Given the description of an element on the screen output the (x, y) to click on. 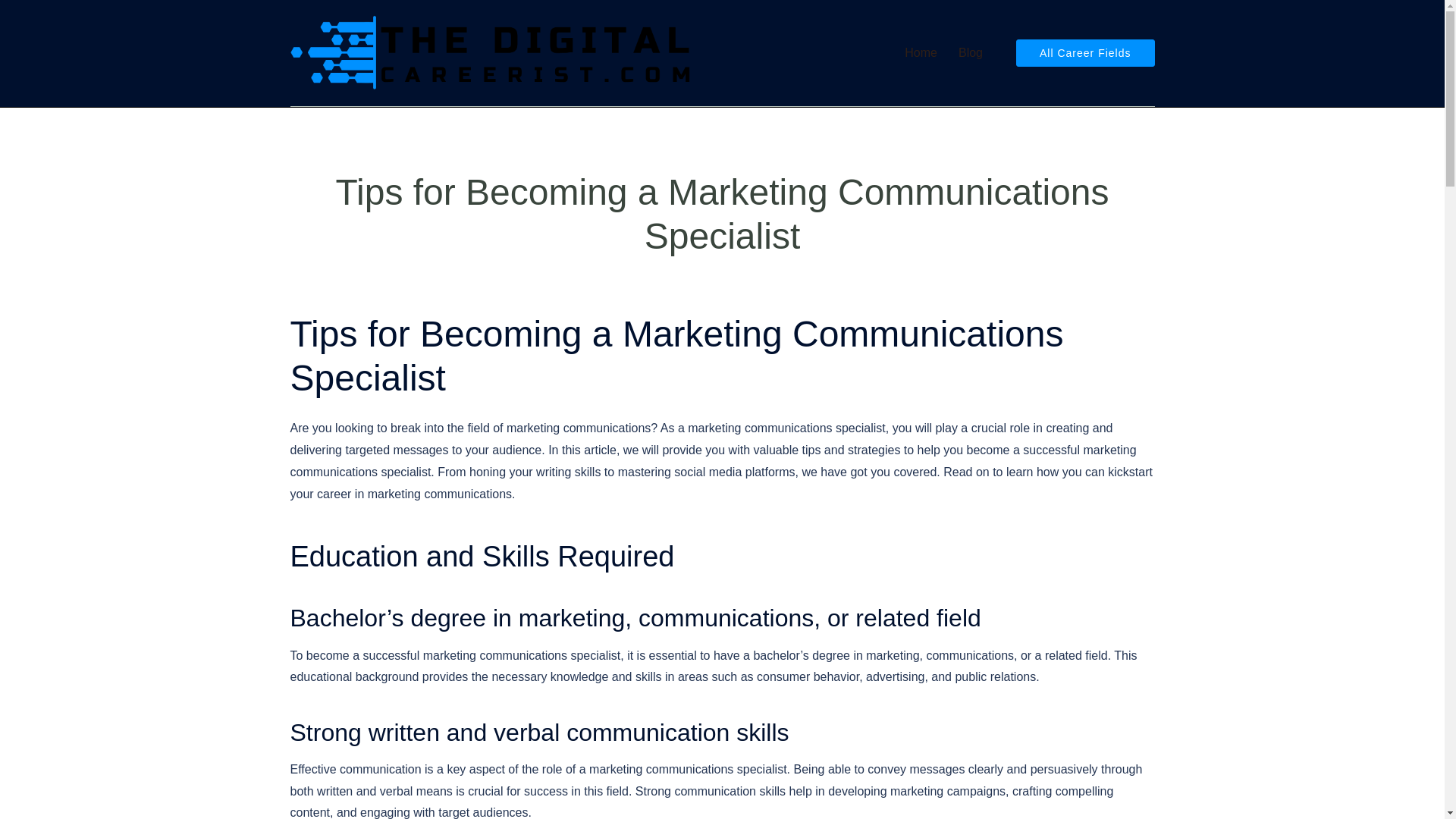
Blog (970, 53)
All Career Fields (1085, 52)
TheDigitalCareerist.com (490, 51)
Home (920, 53)
